Given the description of an element on the screen output the (x, y) to click on. 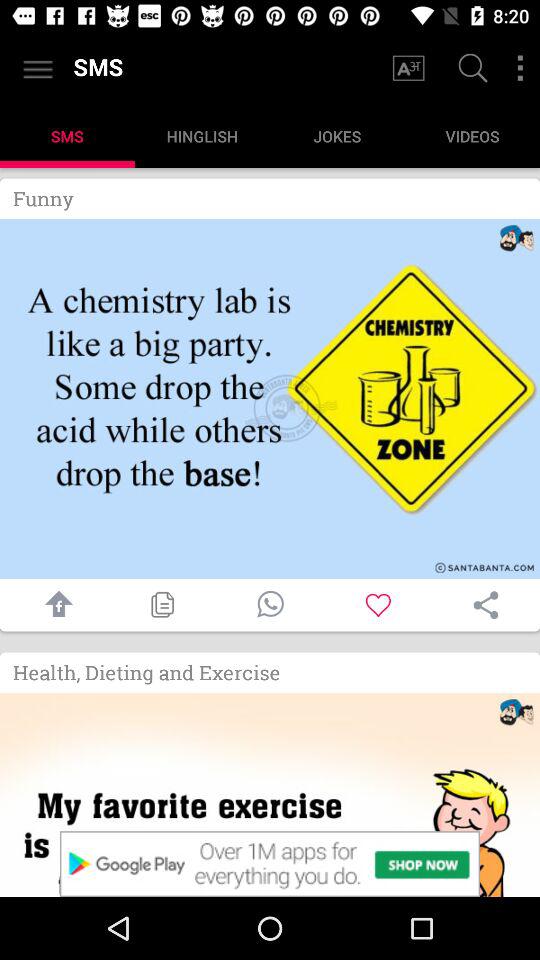
google page (470, 70)
